Given the description of an element on the screen output the (x, y) to click on. 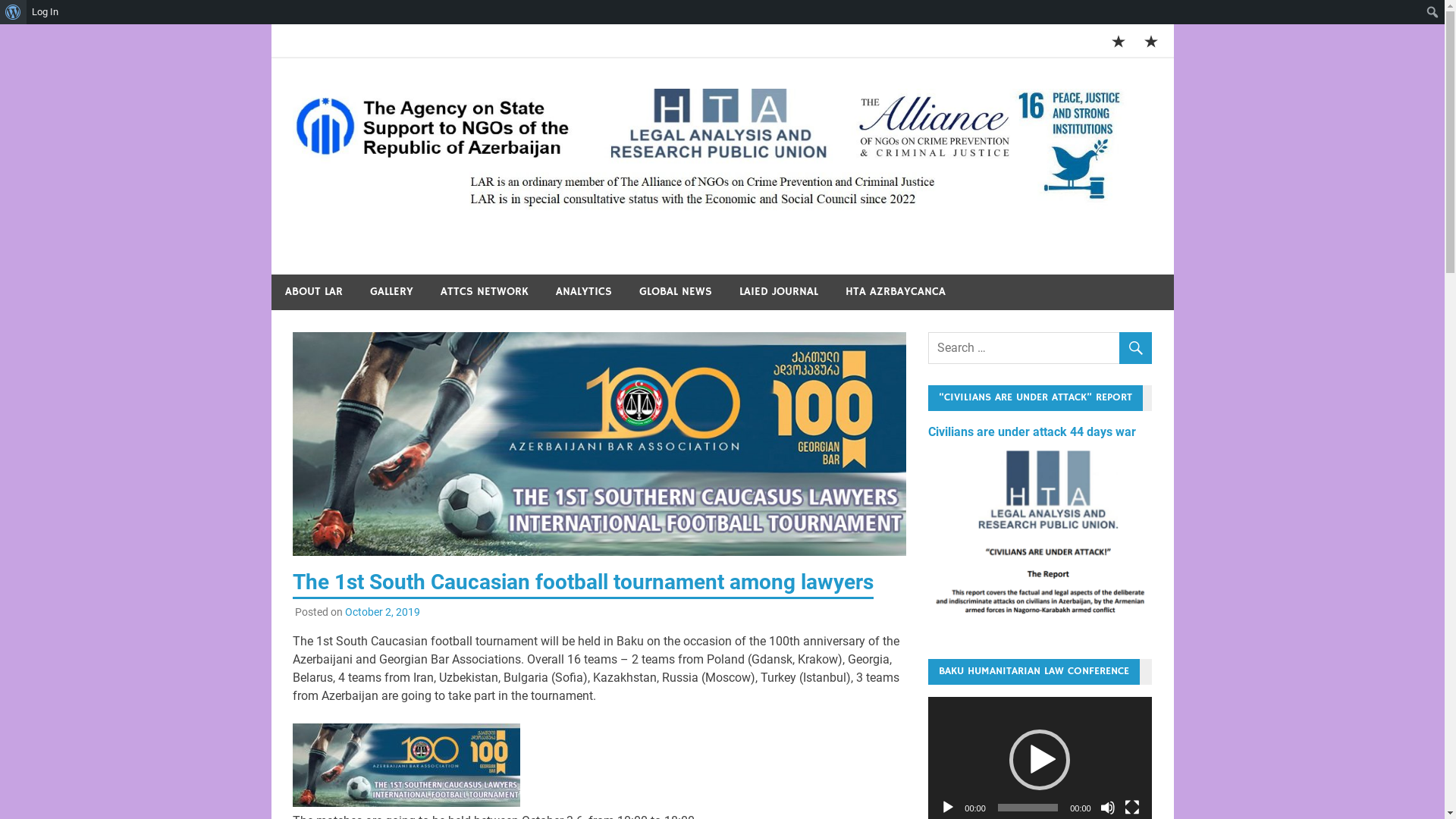
Search Element type: text (15, 12)
Log In Element type: text (45, 12)
Mute Element type: hover (1107, 807)
LAIED JOURNAL Element type: text (777, 292)
Skip to content Element type: text (269, 23)
Civilians are under attack 44 days war Element type: text (1031, 431)
ABOUT LAR Element type: text (313, 292)
GALLERY Element type: text (391, 292)
Play Element type: hover (947, 807)
GLOBAL NEWS Element type: text (674, 292)
October 2, 2019 Element type: text (382, 611)
Fullscreen Element type: hover (1131, 807)
ATTCS NETWORK Element type: text (483, 292)
ANALYTICS Element type: text (582, 292)
